Given the description of an element on the screen output the (x, y) to click on. 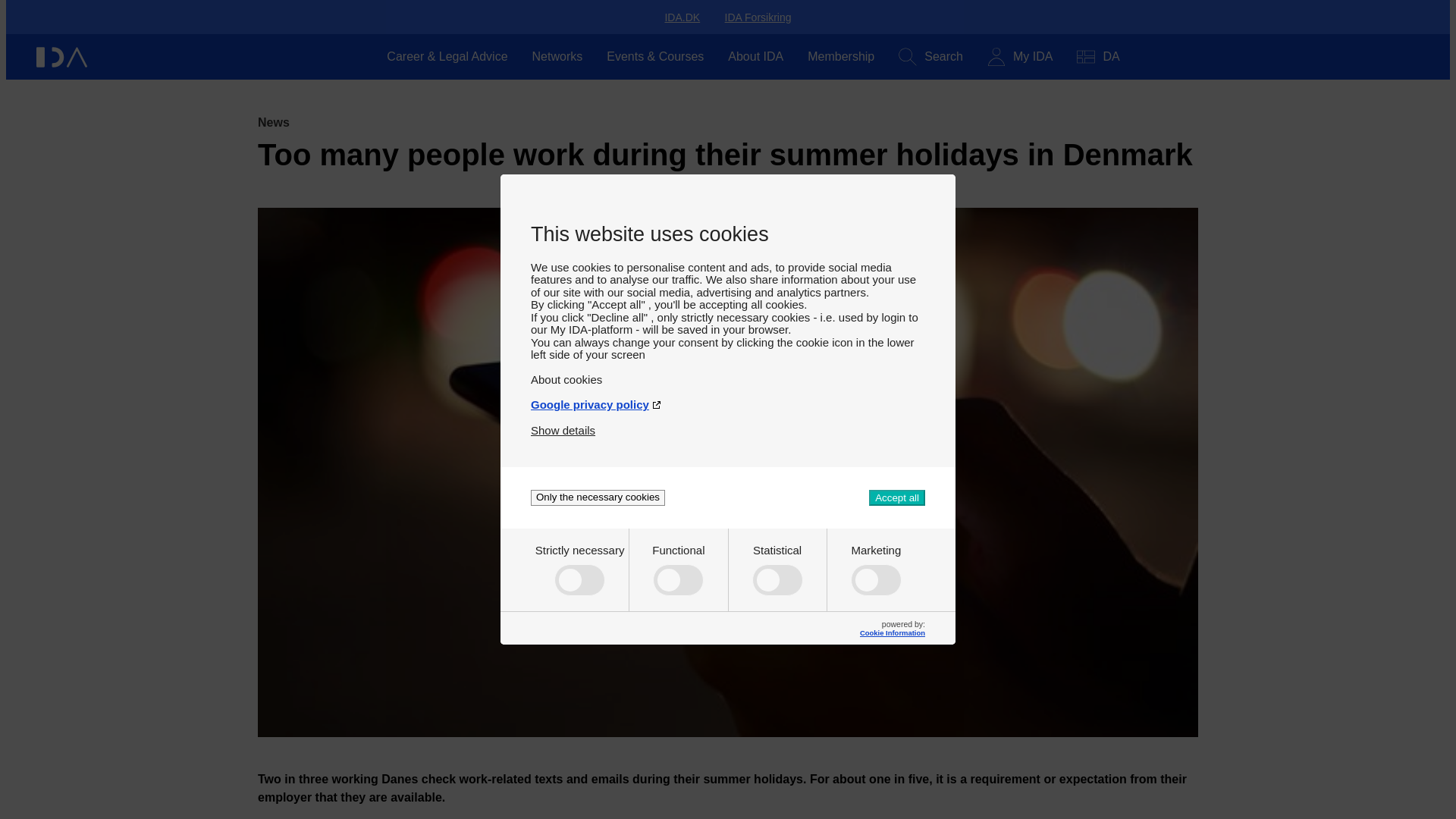
Google privacy policy (727, 398)
About cookies (727, 373)
Show details (563, 423)
